Given the description of an element on the screen output the (x, y) to click on. 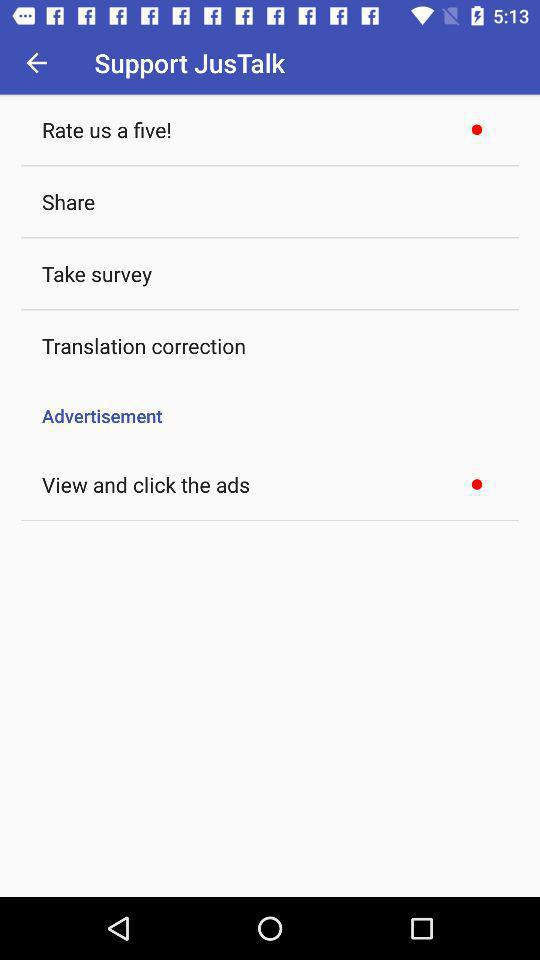
press icon next to the support justalk icon (36, 62)
